Given the description of an element on the screen output the (x, y) to click on. 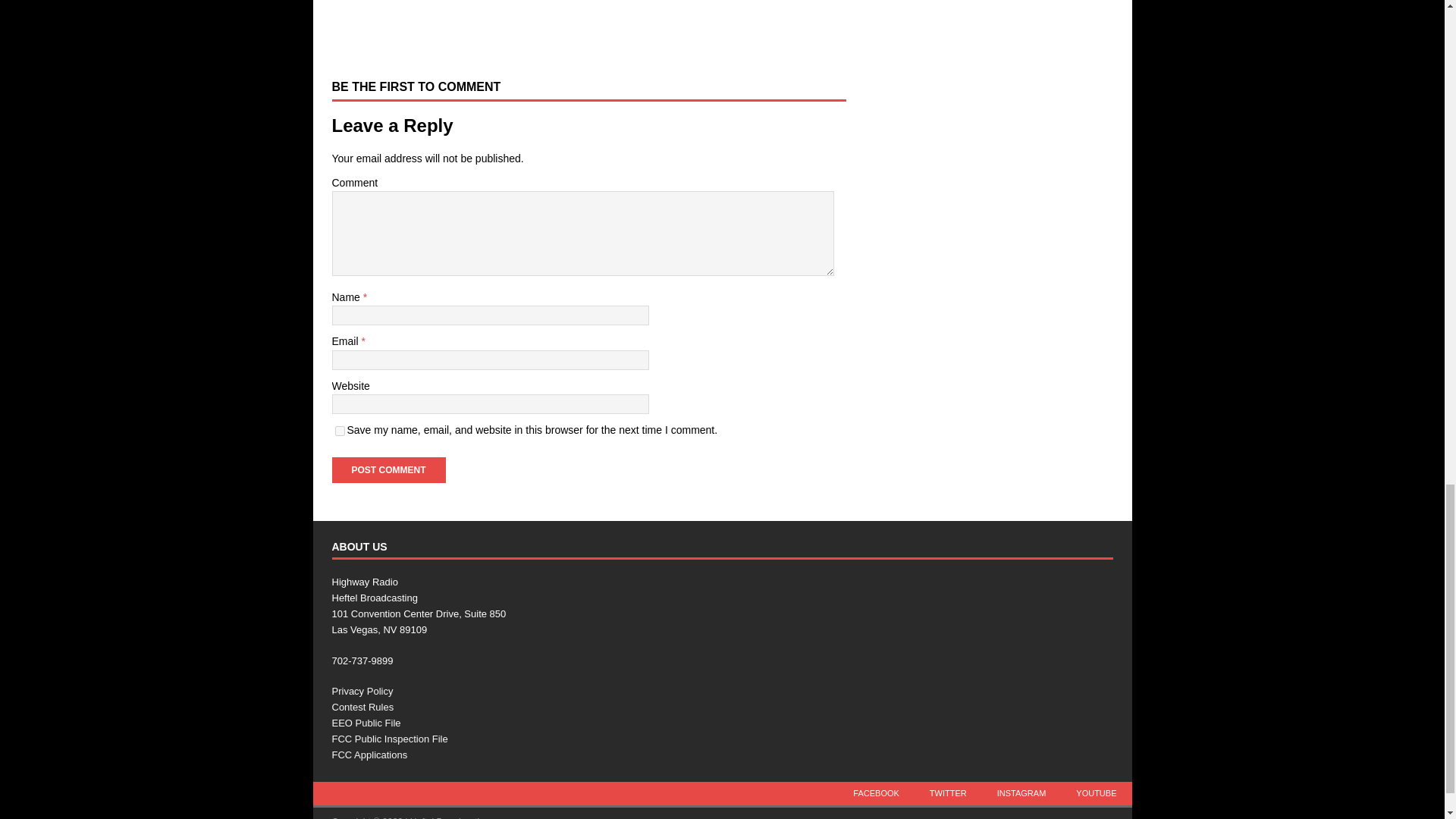
Post Comment (388, 470)
yes (339, 430)
Advertisement (607, 27)
